Given the description of an element on the screen output the (x, y) to click on. 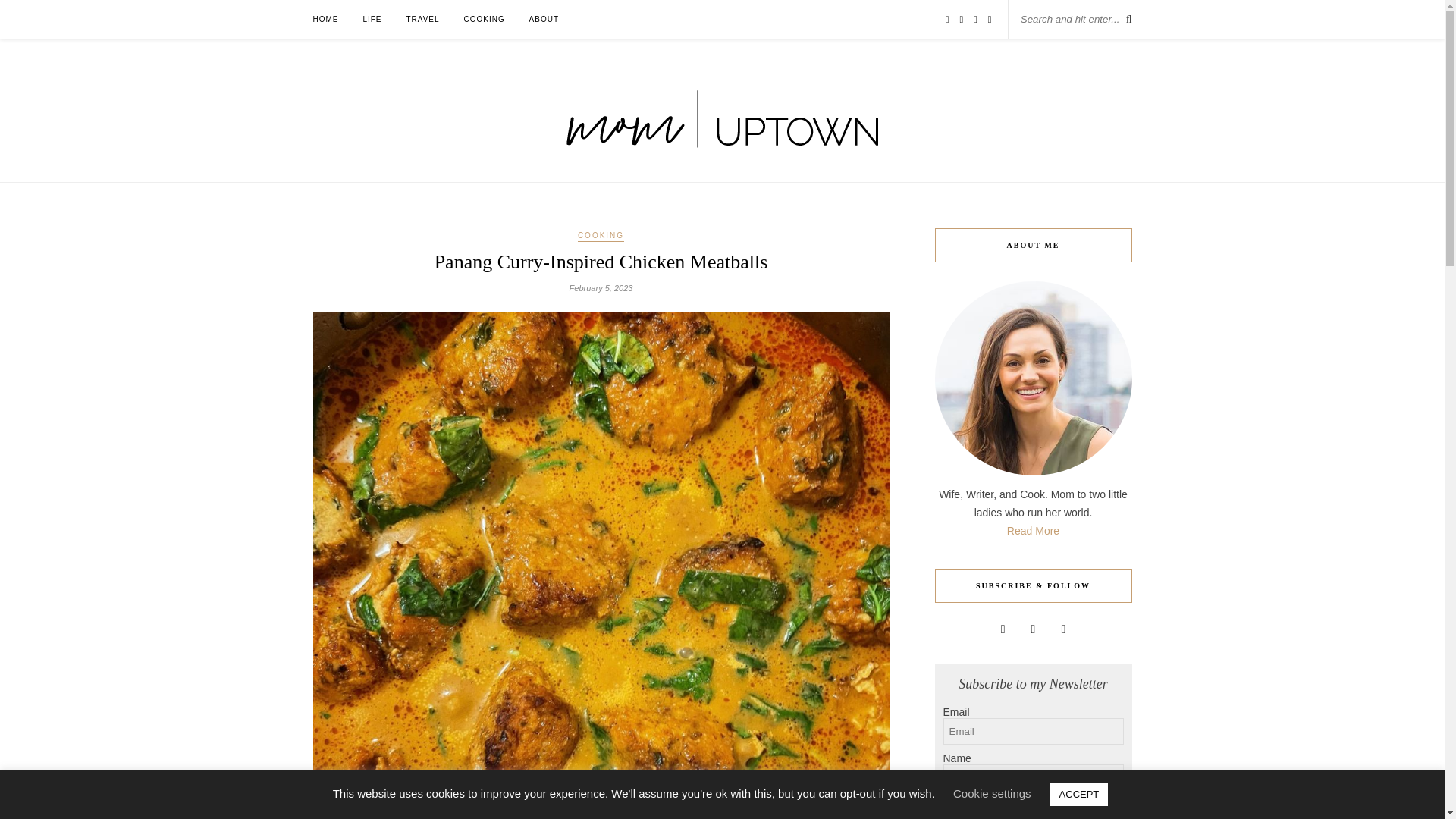
COOKING (601, 235)
COOKING (483, 19)
Read More (1033, 530)
View all posts in Cooking (601, 235)
